Given the description of an element on the screen output the (x, y) to click on. 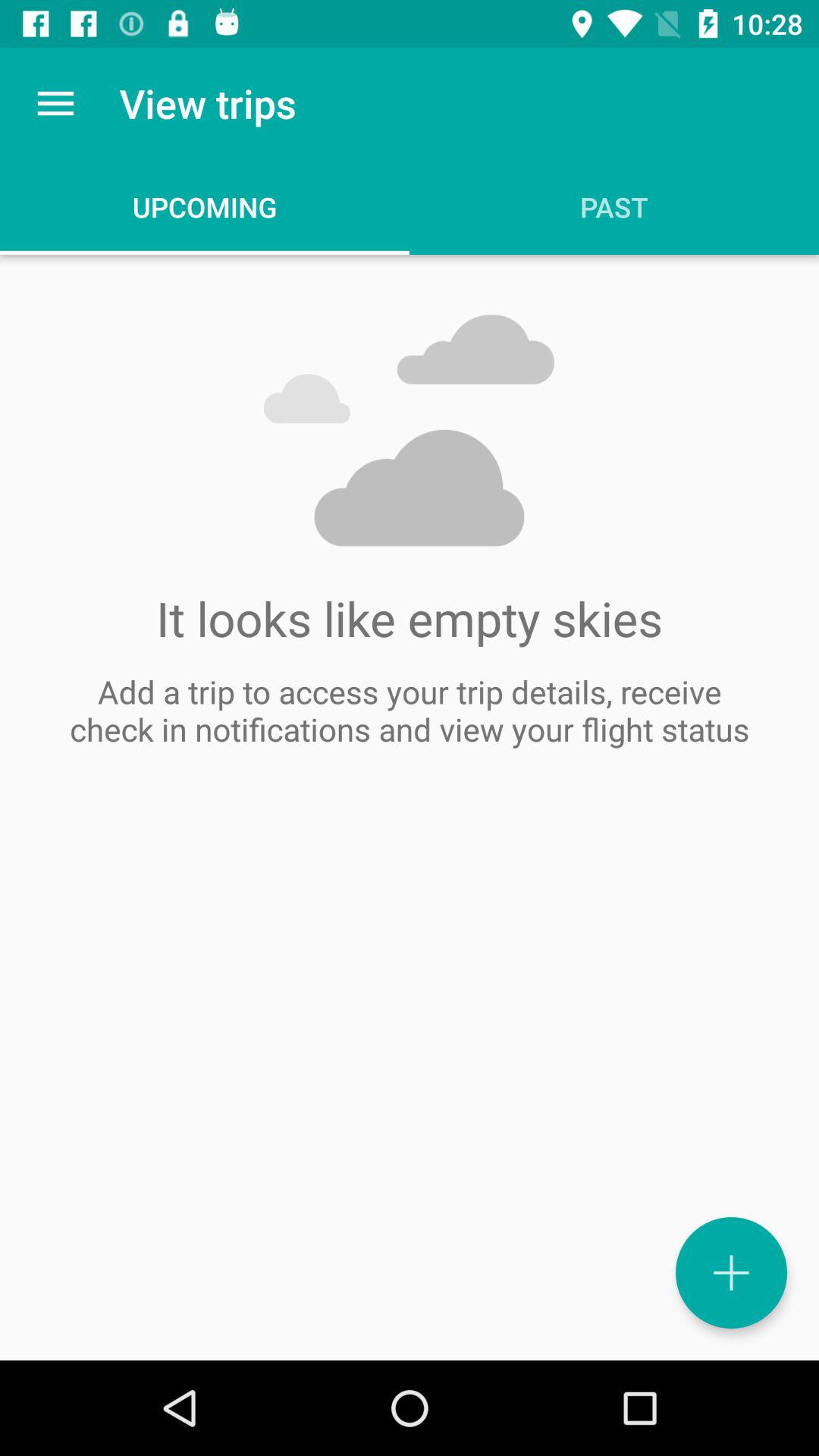
turn on the icon next to the view trips app (55, 103)
